Given the description of an element on the screen output the (x, y) to click on. 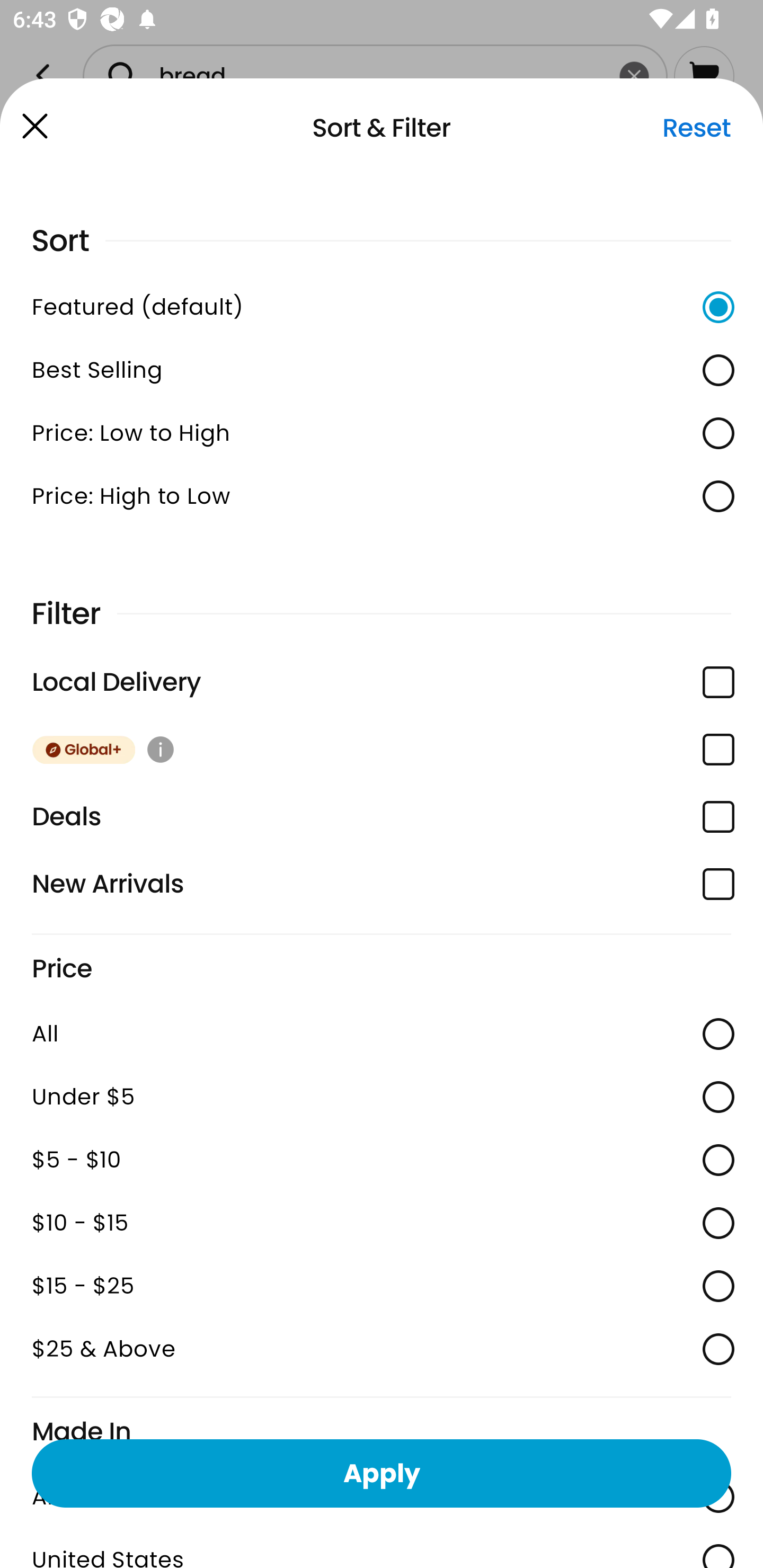
Reset (696, 127)
Apply (381, 1472)
